Given the description of an element on the screen output the (x, y) to click on. 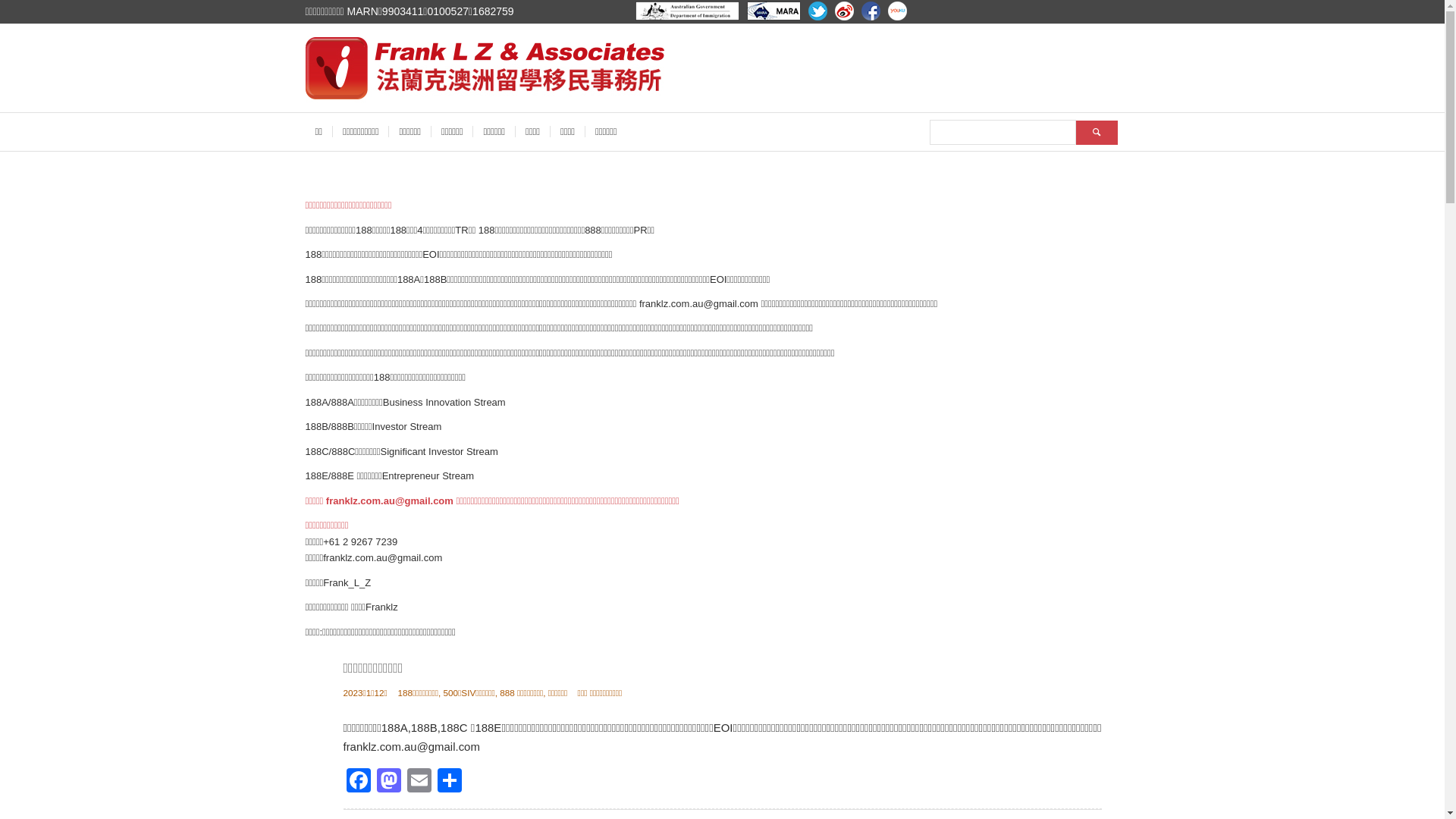
Email Element type: text (418, 782)
Mastodon Element type: text (388, 782)
Facebook Element type: text (357, 782)
